Given the description of an element on the screen output the (x, y) to click on. 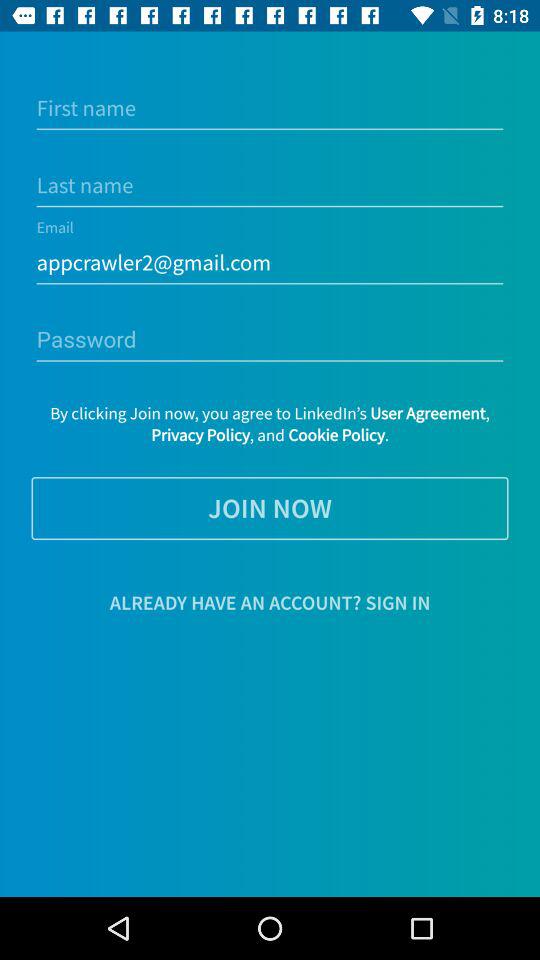
turn off the item below the join now (269, 602)
